Given the description of an element on the screen output the (x, y) to click on. 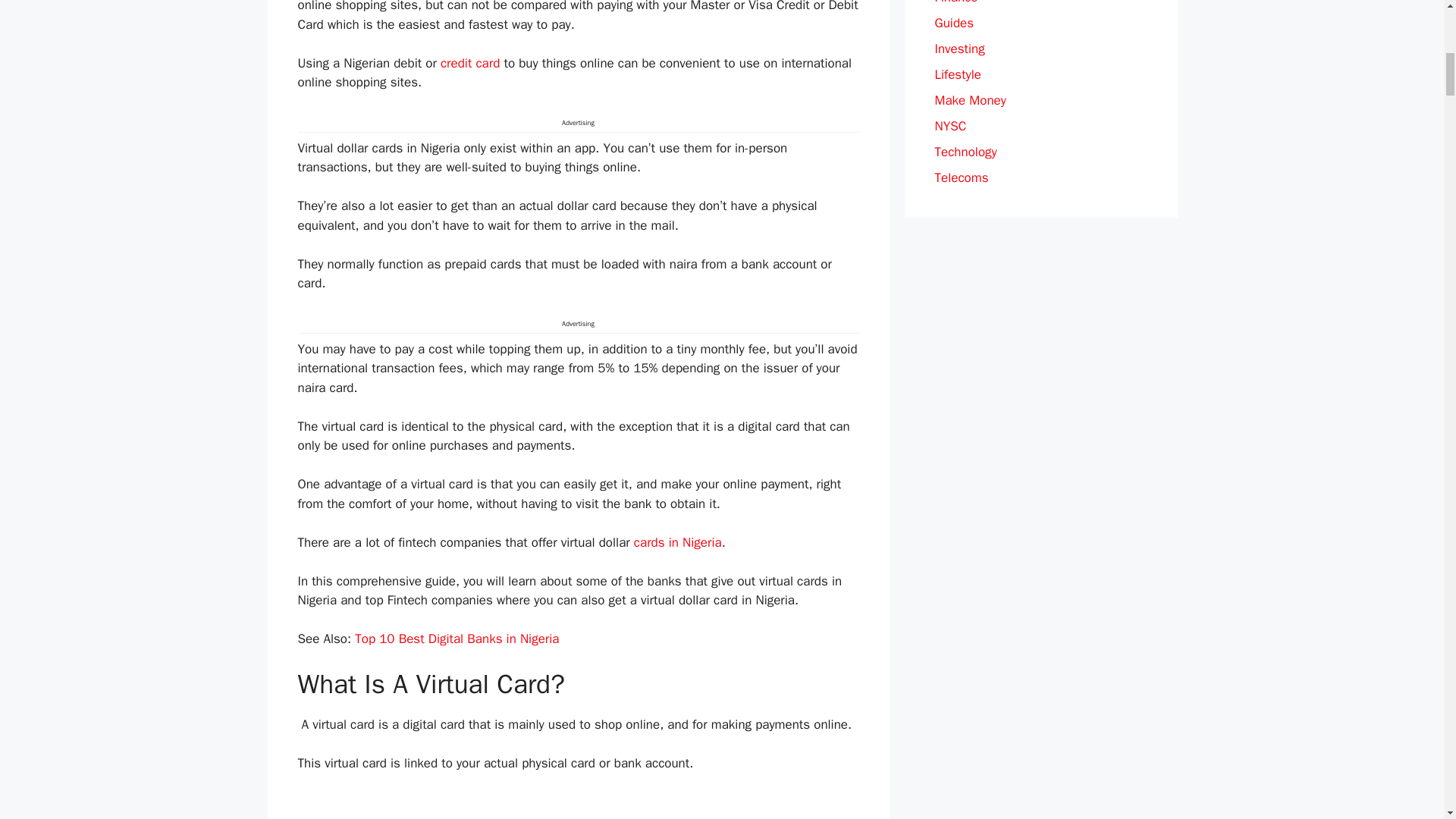
credit card (470, 63)
cards in Nigeria (677, 542)
Top 10 Best Digital Banks in Nigeria (457, 638)
